Given the description of an element on the screen output the (x, y) to click on. 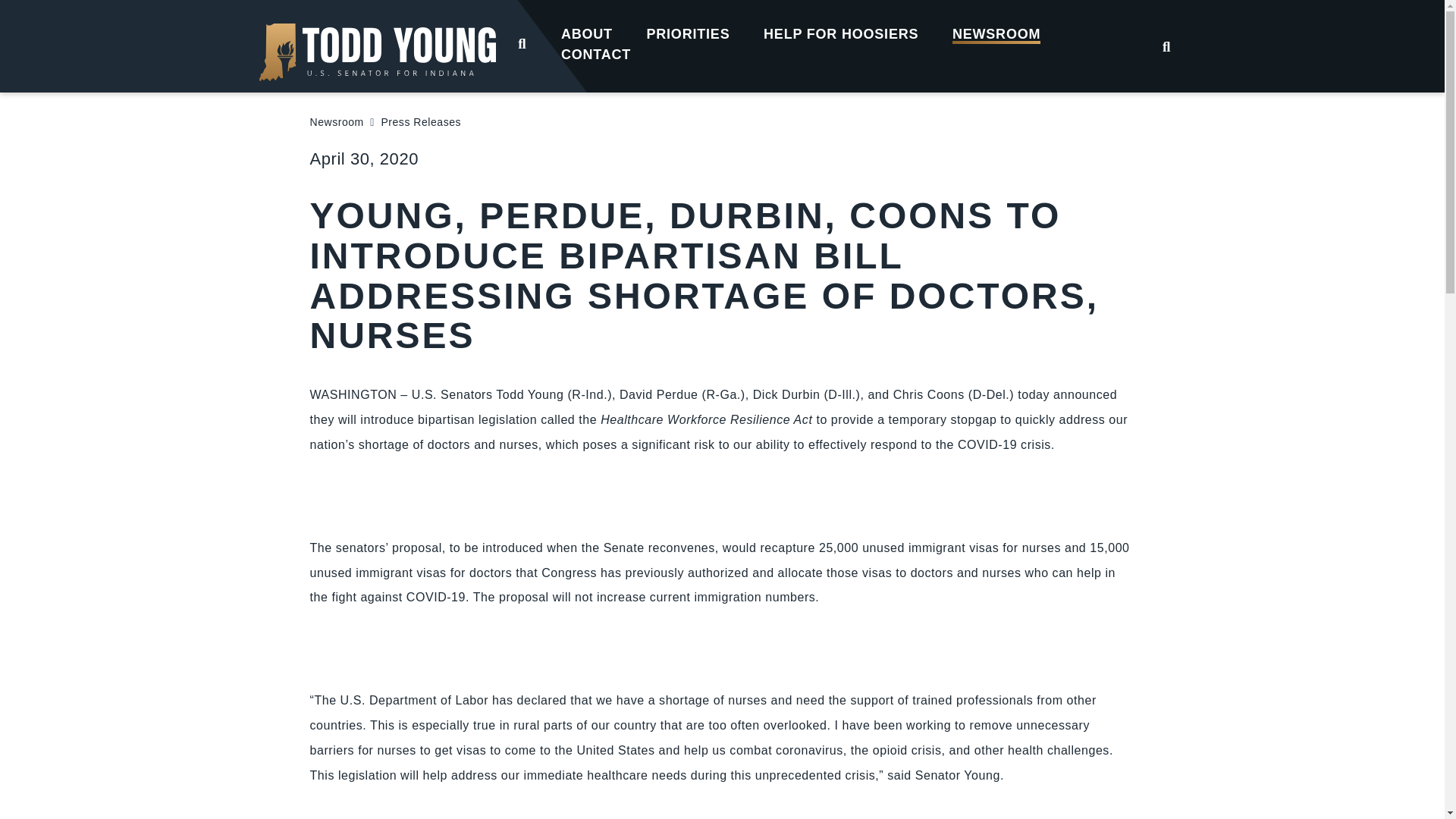
NEWSROOM (997, 32)
HELP FOR HOOSIERS (841, 32)
OPEN SEARCH (522, 41)
CONTACT (595, 53)
PRIORITIES (687, 32)
ABOUT (587, 32)
